Given the description of an element on the screen output the (x, y) to click on. 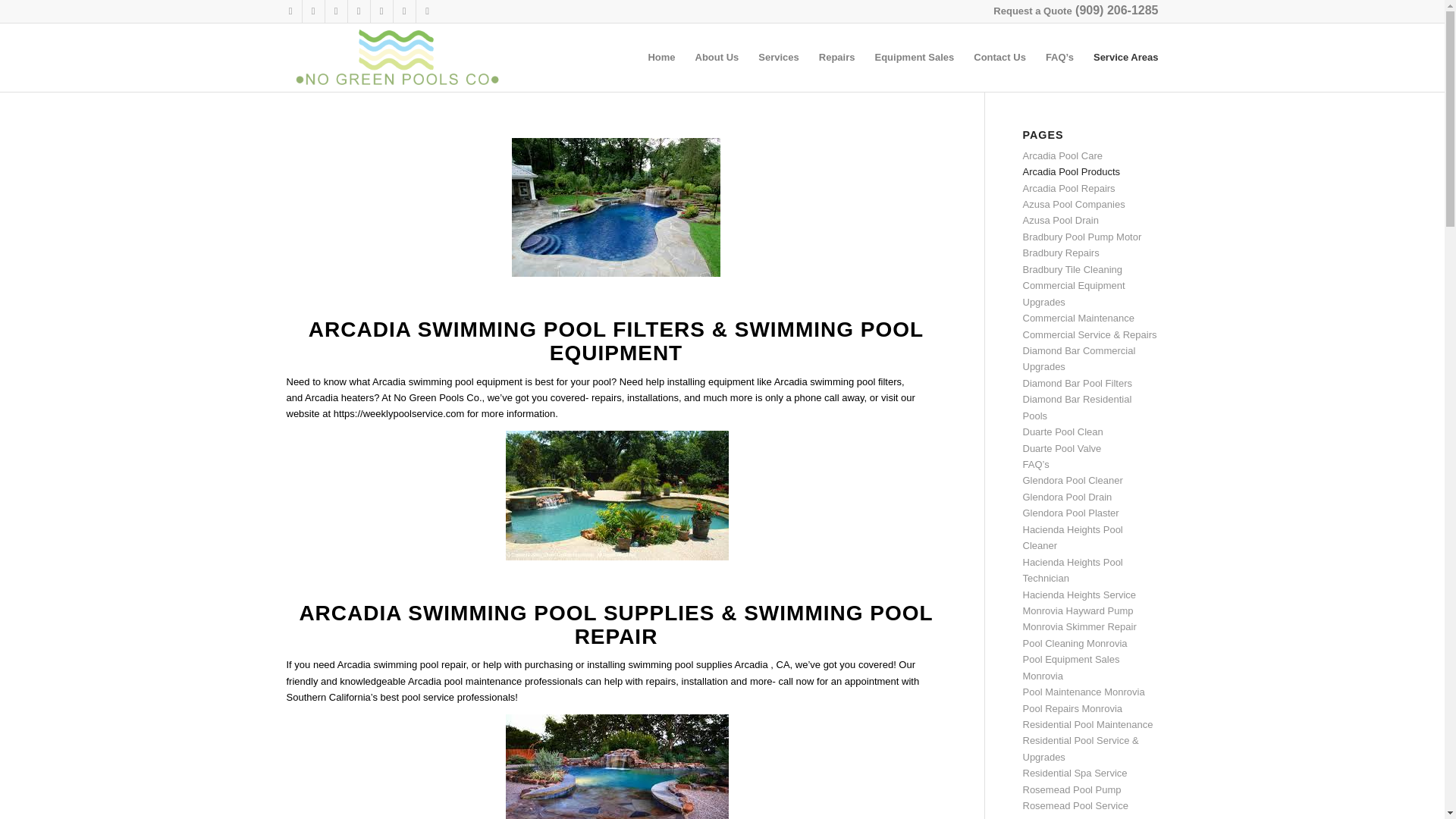
Twitter (312, 11)
Gplus (335, 11)
Facebook (290, 11)
Rss (426, 11)
Mail (403, 11)
Youtube (358, 11)
Linkedin (380, 11)
